Given the description of an element on the screen output the (x, y) to click on. 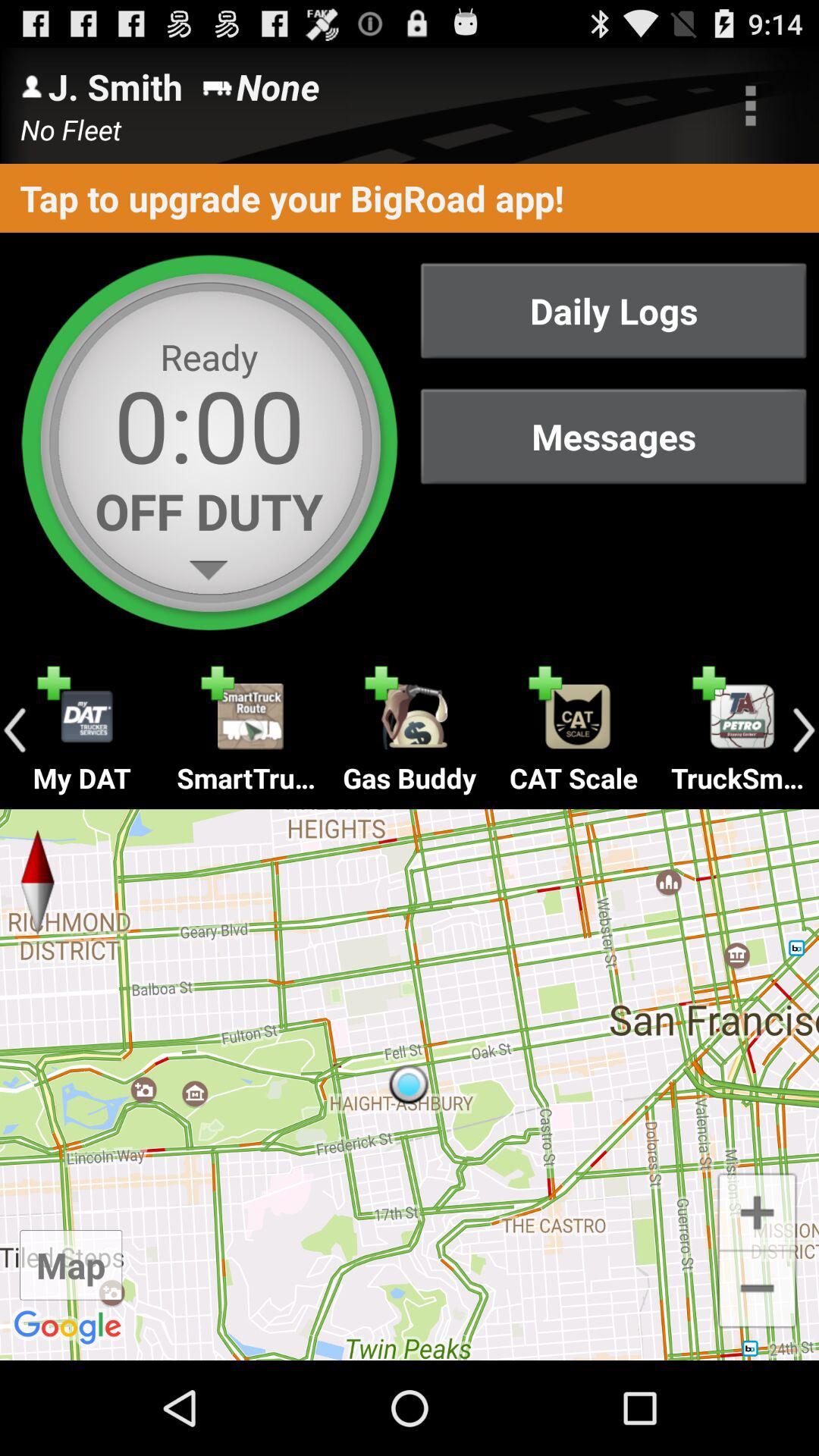
press item to the right of none  icon (750, 105)
